Given the description of an element on the screen output the (x, y) to click on. 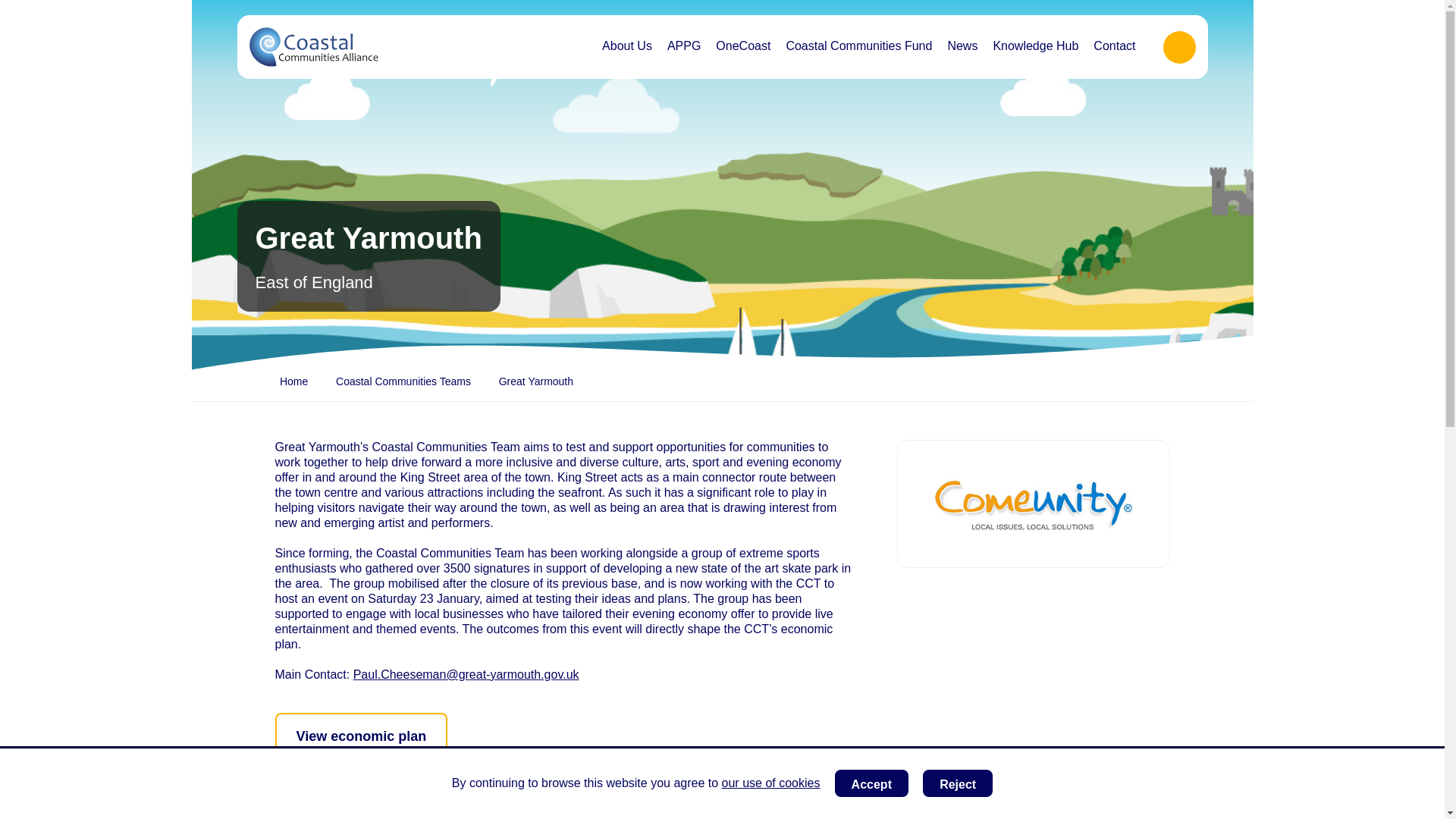
About Us (626, 46)
News (962, 46)
APPG (683, 46)
Accept (871, 782)
Knowledge Hub (1035, 46)
OneCoast (742, 46)
Reject (957, 782)
Coastal Communities Teams (403, 382)
Contact (1114, 46)
Coastal Communities Fund (858, 46)
